Given the description of an element on the screen output the (x, y) to click on. 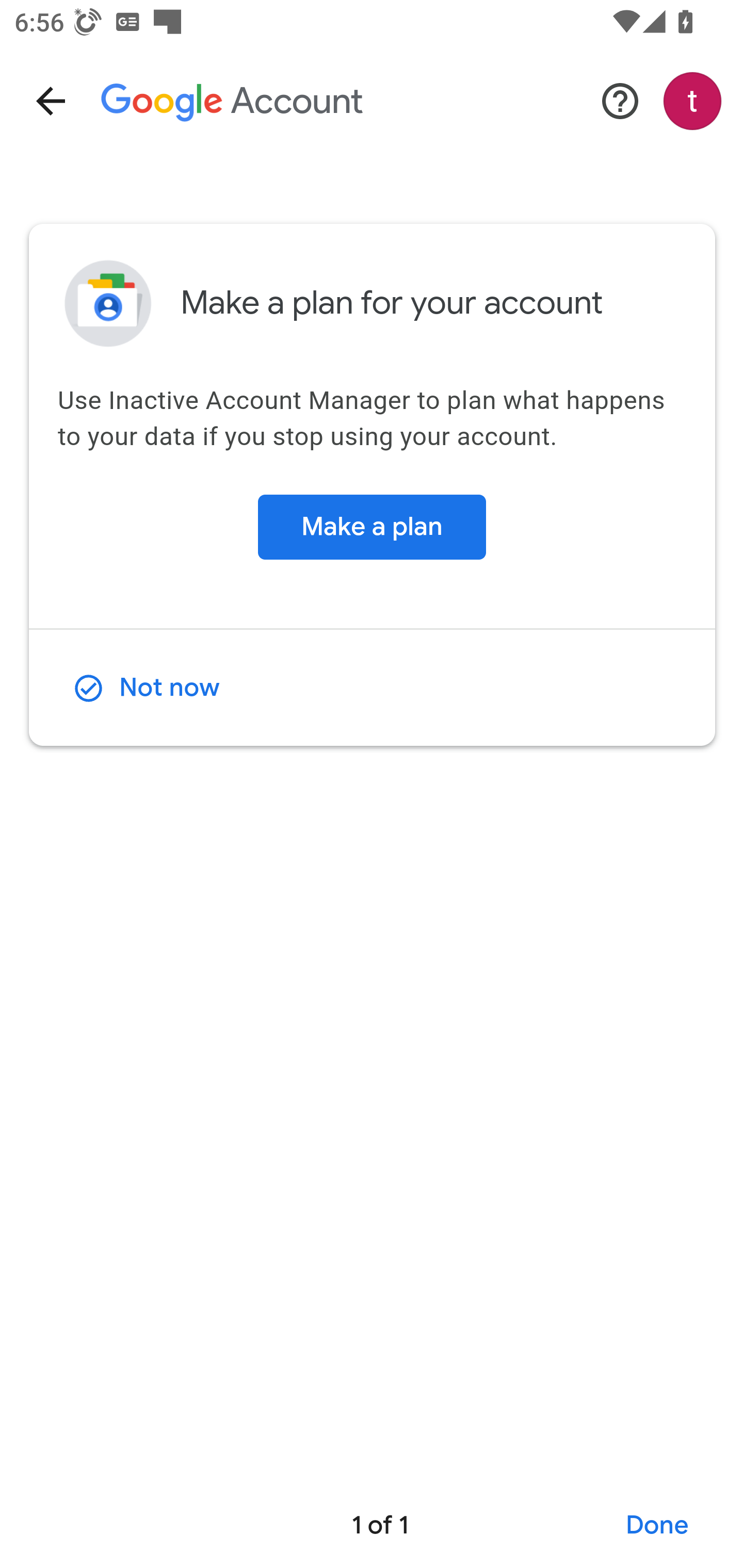
Navigate up (50, 101)
Help & feedback (619, 101)
Make a plan (371, 527)
Not now (145, 687)
Done (657, 1526)
